Given the description of an element on the screen output the (x, y) to click on. 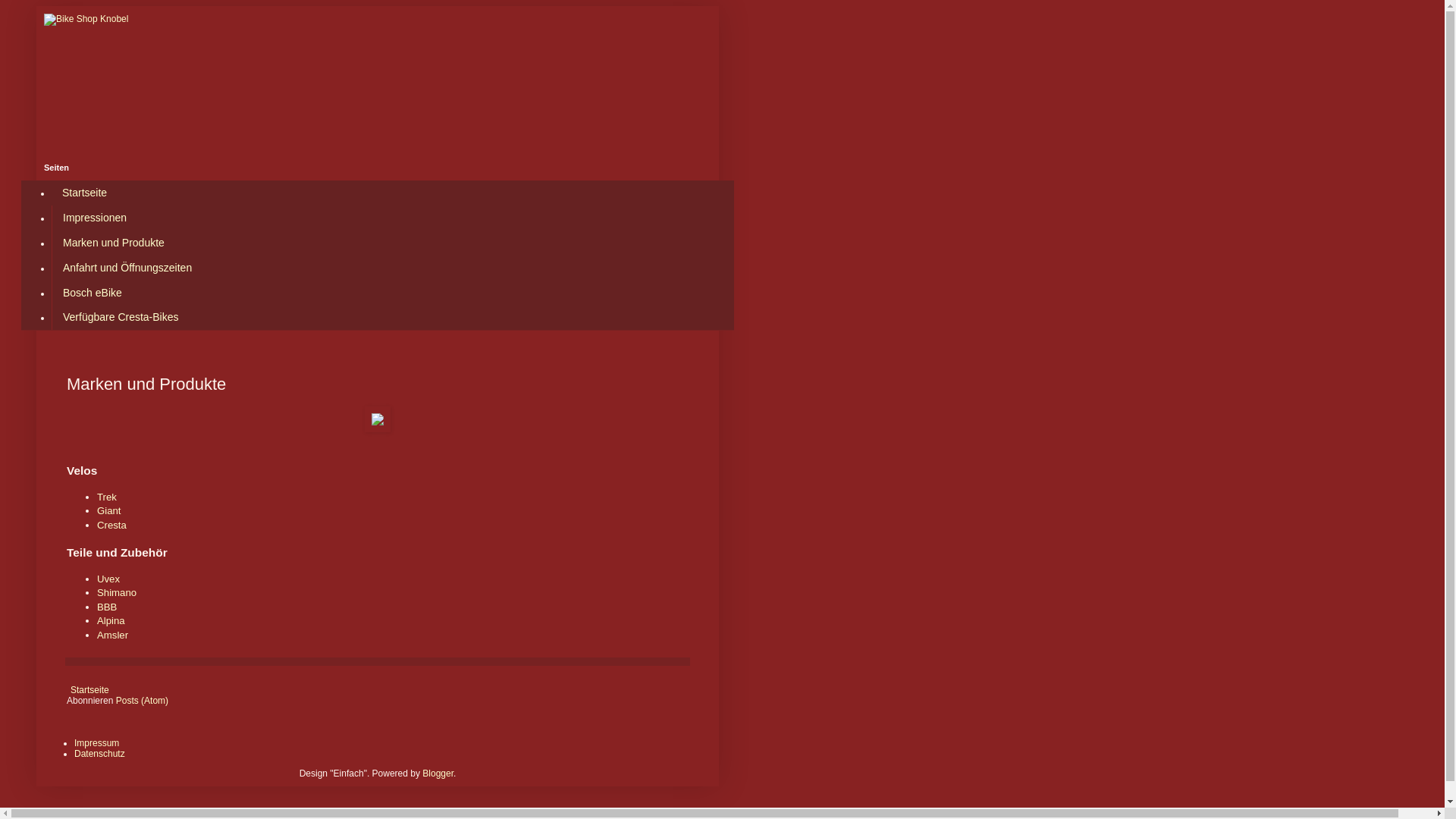
Impressionen Element type: text (94, 217)
Posts (Atom) Element type: text (142, 700)
Marken und Produkte Element type: text (113, 242)
Giant Element type: text (109, 510)
Startseite Element type: text (89, 689)
Shimano Element type: text (116, 592)
BBB Element type: text (106, 606)
Alpina Element type: text (111, 620)
Datenschutz Element type: text (99, 753)
Bosch eBike Element type: text (91, 291)
Amsler Element type: text (112, 634)
Uvex Element type: text (108, 578)
Impressum Element type: text (96, 742)
Blogger Element type: text (437, 773)
Cresta Element type: text (111, 524)
Trek Element type: text (106, 496)
Startseite Element type: text (84, 192)
